Given the description of an element on the screen output the (x, y) to click on. 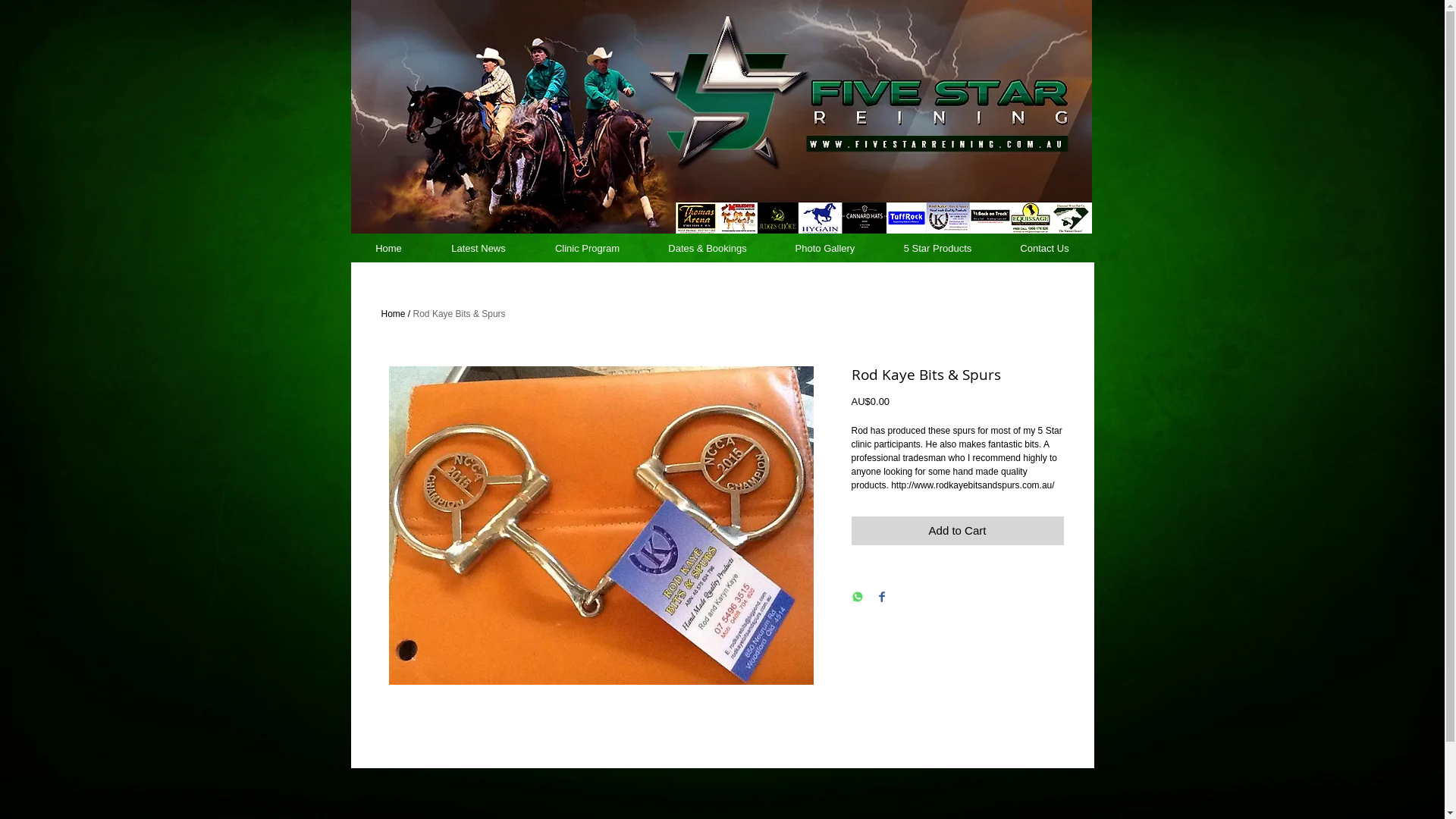
Rod Kaye Bits & Spurs Element type: text (459, 313)
Add to Cart Element type: text (956, 531)
Contact Us Element type: text (1044, 247)
Dates & Bookings Element type: text (707, 247)
Home Element type: text (388, 247)
Home Element type: text (392, 313)
Photo Gallery Element type: text (824, 247)
Clinic Program Element type: text (587, 247)
Latest News Element type: text (478, 247)
5 Star Products Element type: text (937, 247)
